Given the description of an element on the screen output the (x, y) to click on. 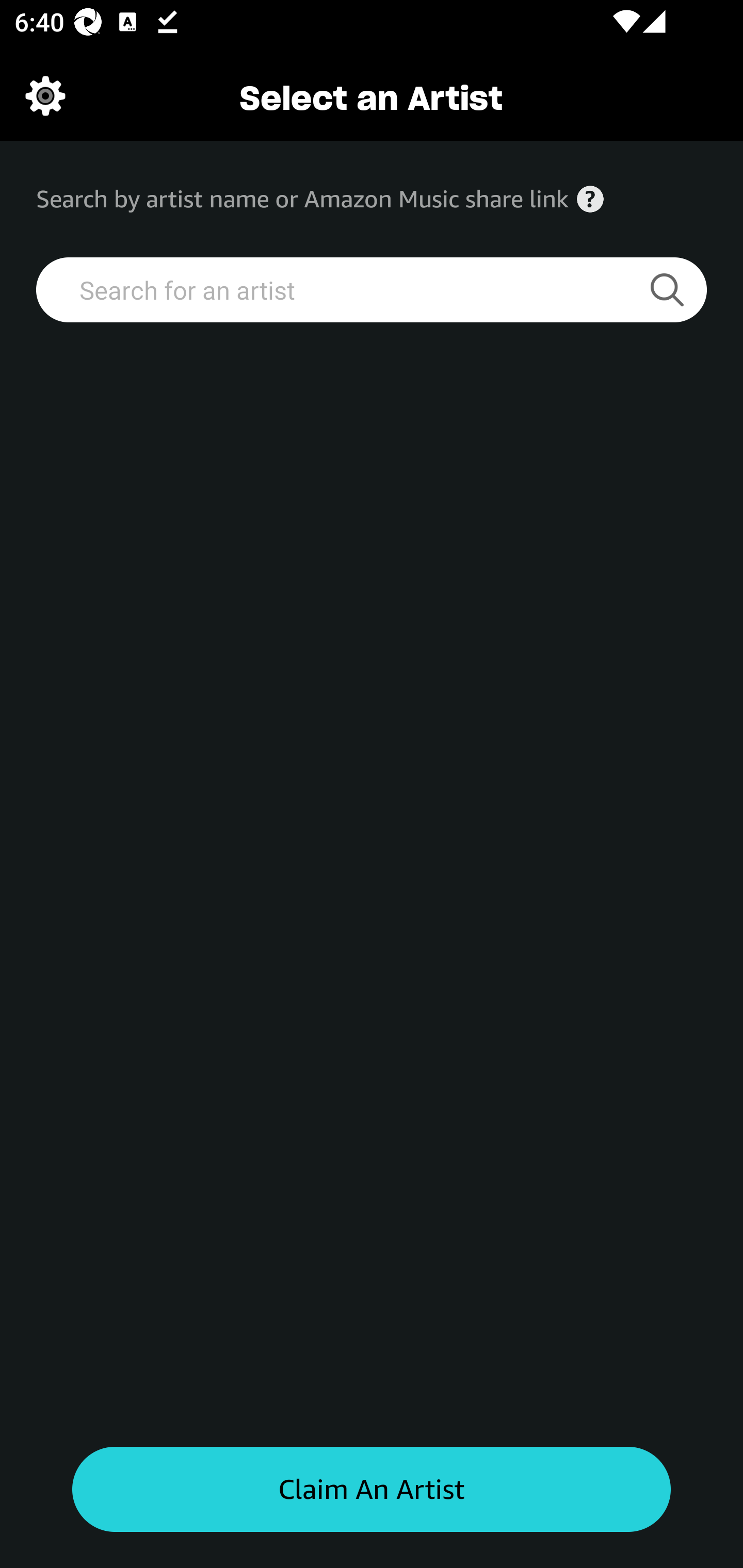
Help  icon (589, 199)
Claim an artist button Claim An Artist (371, 1489)
